Given the description of an element on the screen output the (x, y) to click on. 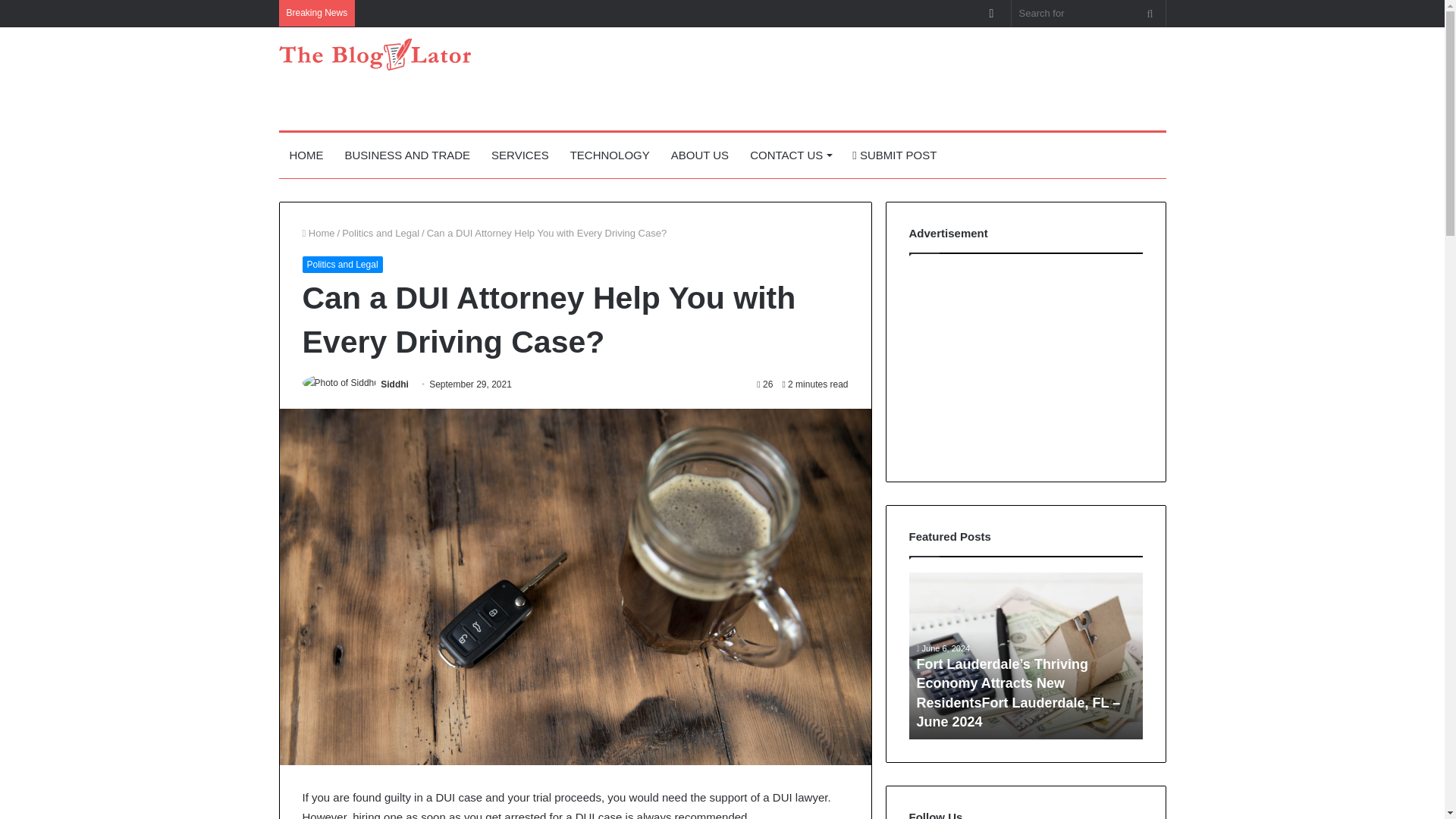
ABOUT US (700, 155)
SUBMIT POST (894, 155)
Politics and Legal (341, 264)
TECHNOLOGY (610, 155)
SERVICES (519, 155)
BUSINESS AND TRADE (406, 155)
Advertisement (873, 76)
Politics and Legal (380, 233)
Siddhi (394, 384)
CONTACT US (790, 155)
Home (317, 233)
Search for (1088, 13)
HOME (306, 155)
Siddhi (394, 384)
The Blogulator (374, 54)
